Given the description of an element on the screen output the (x, y) to click on. 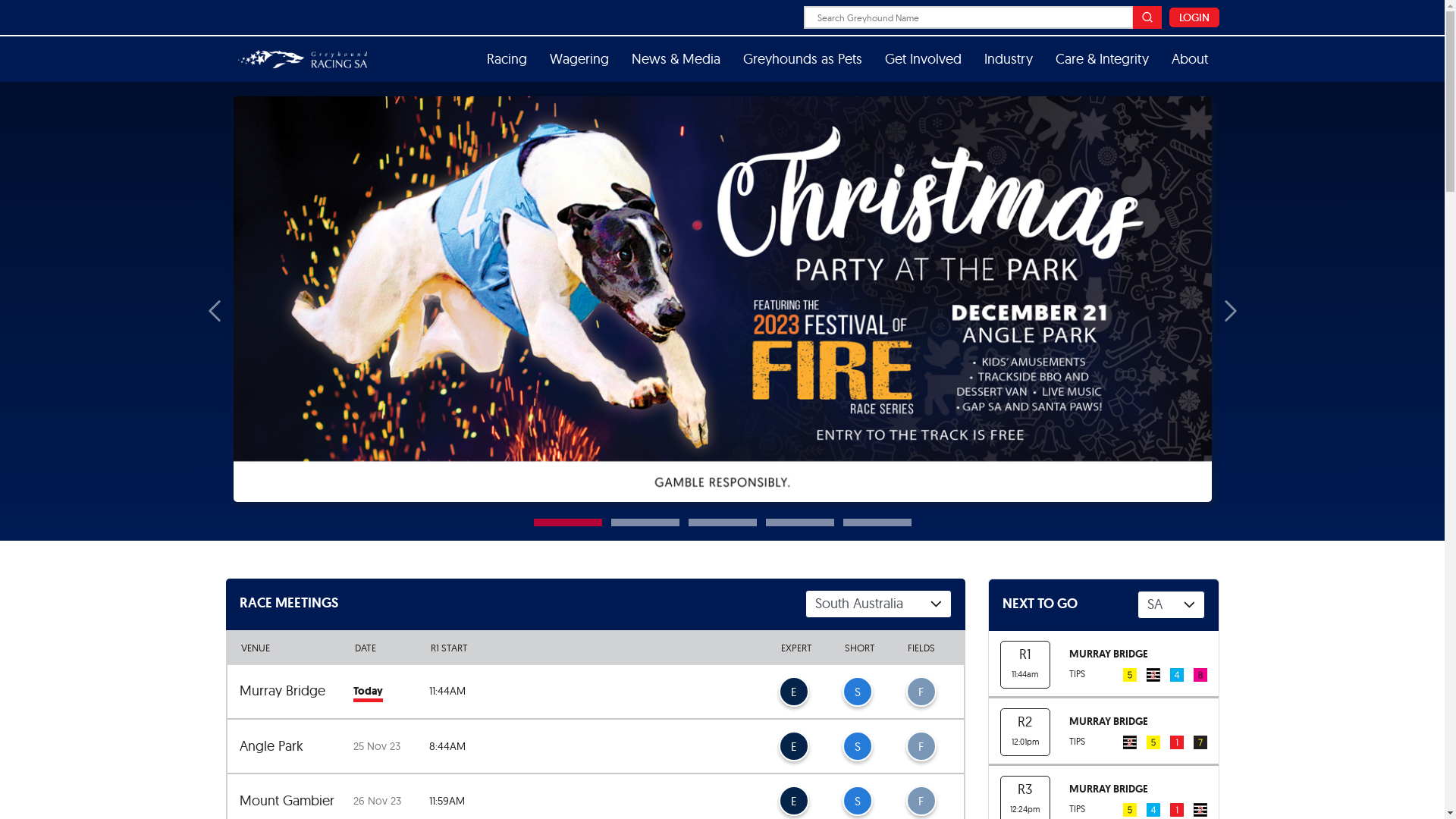
Care & Integrity Element type: text (1101, 58)
LOGIN Element type: text (1194, 17)
S Element type: text (856, 746)
S Element type: text (856, 691)
News & Media Element type: text (675, 58)
E Element type: text (793, 746)
Racing Element type: text (505, 58)
Next Element type: text (1236, 310)
Get Involved Element type: text (922, 58)
F Element type: text (920, 746)
S Element type: text (856, 800)
Industry Element type: text (1007, 58)
MURRAY BRIDGE Element type: text (1108, 721)
About Element type: text (1189, 58)
F Element type: text (920, 691)
MURRAY BRIDGE Element type: text (1108, 653)
MURRAY BRIDGE Element type: text (1108, 788)
Wagering Element type: text (579, 58)
E Element type: text (793, 800)
E Element type: text (793, 691)
Previous Element type: text (207, 310)
F Element type: text (920, 800)
Greyhounds as Pets Element type: text (801, 58)
